Given the description of an element on the screen output the (x, y) to click on. 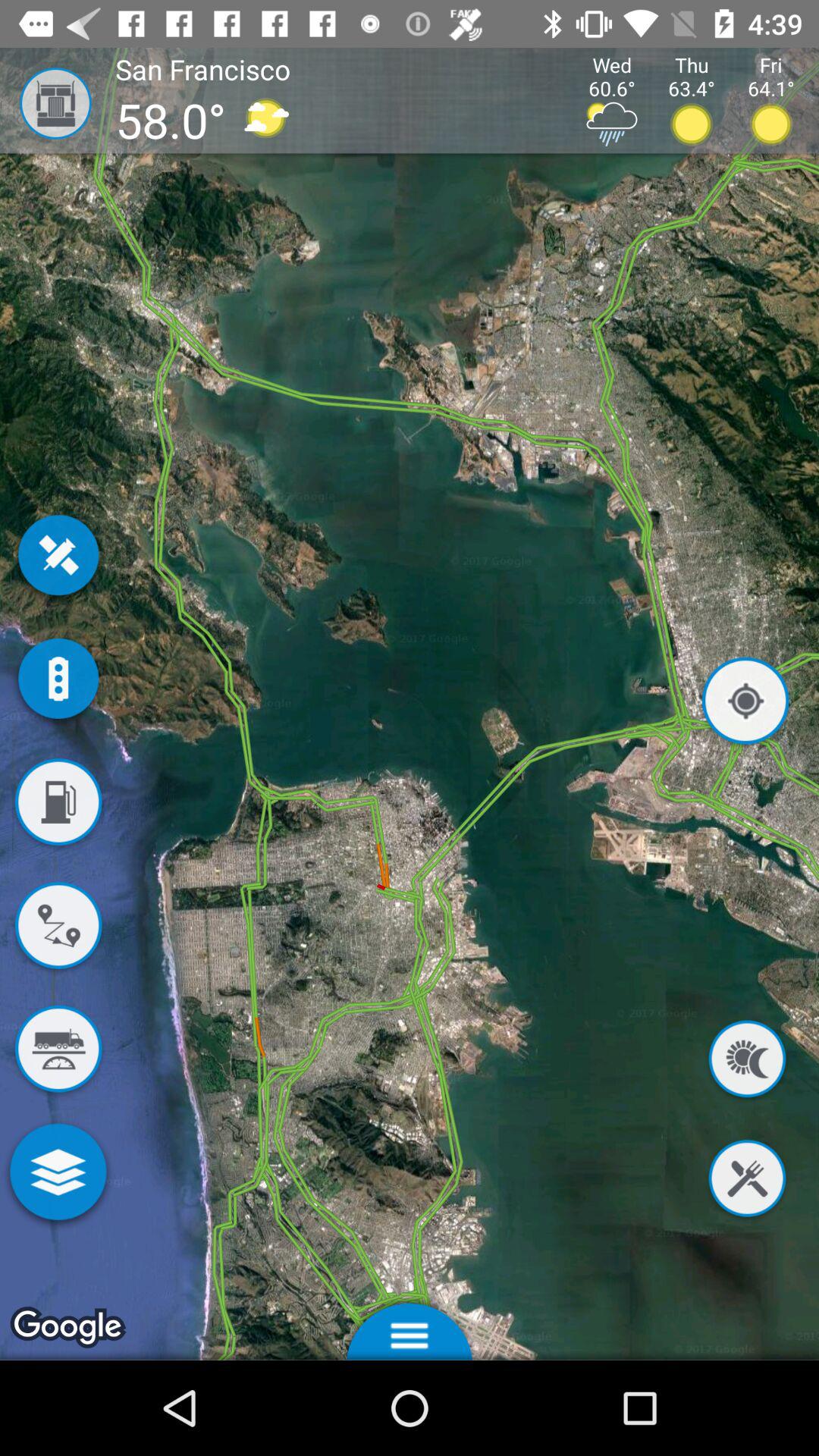
look for a nearby fuel station (57, 804)
